Given the description of an element on the screen output the (x, y) to click on. 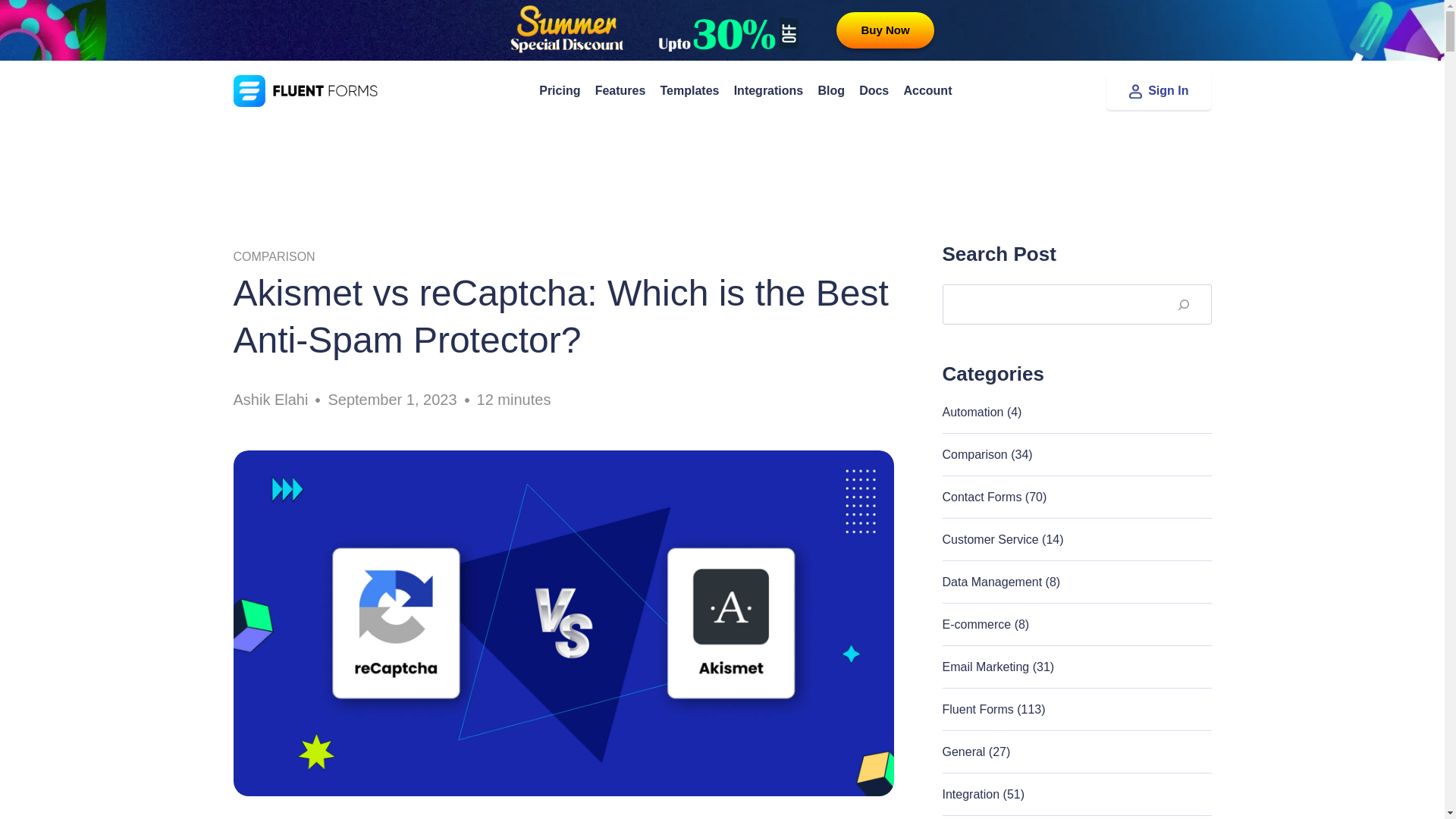
Buy Now (884, 30)
Features (620, 90)
Ashik Elahi (270, 399)
Pricing (560, 90)
COMPARISON (273, 256)
Templates (689, 90)
Blog (830, 90)
Docs (873, 90)
Sign In (1158, 90)
Account (927, 90)
